Given the description of an element on the screen output the (x, y) to click on. 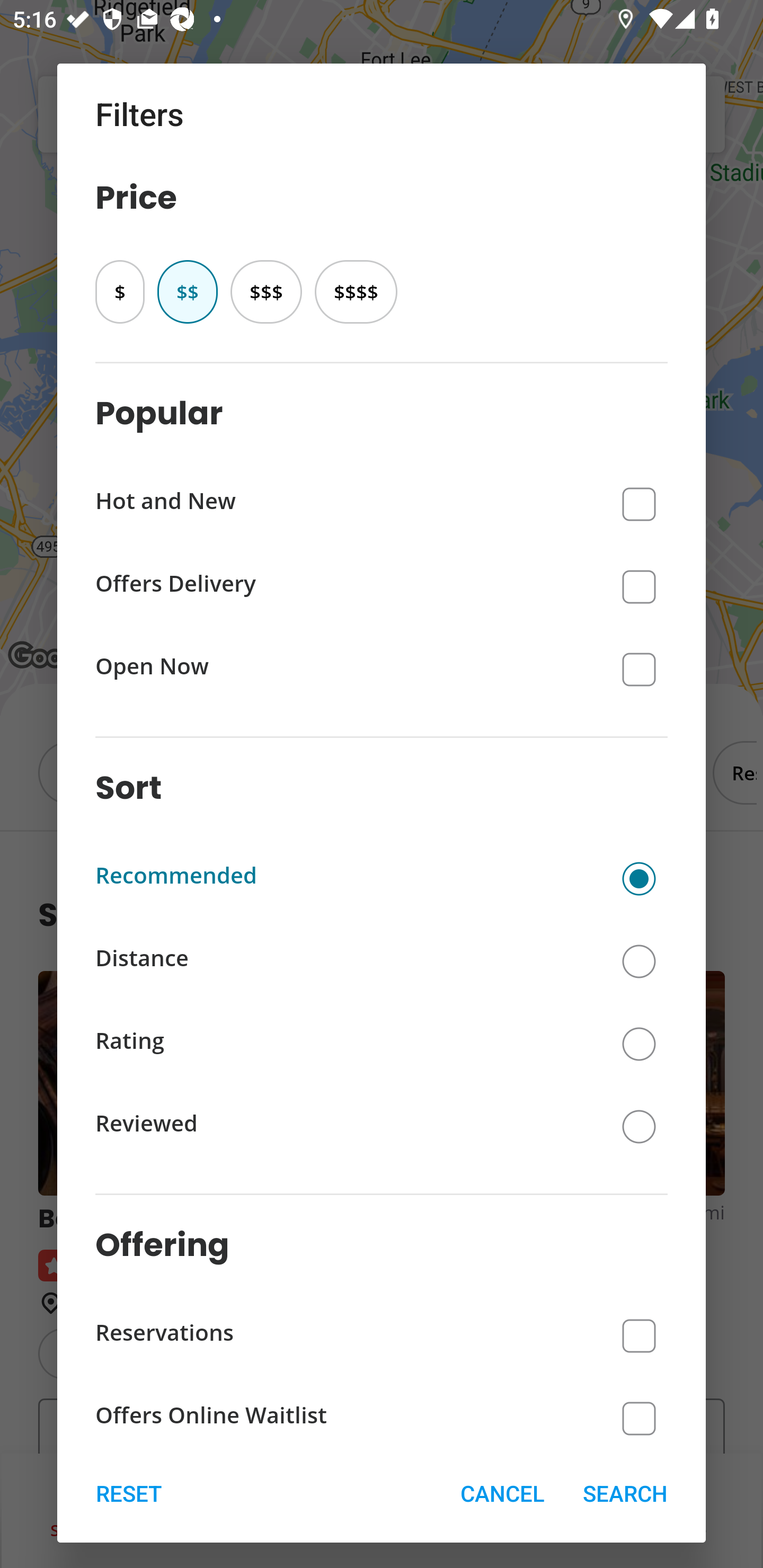
$$$ (266, 291)
